Given the description of an element on the screen output the (x, y) to click on. 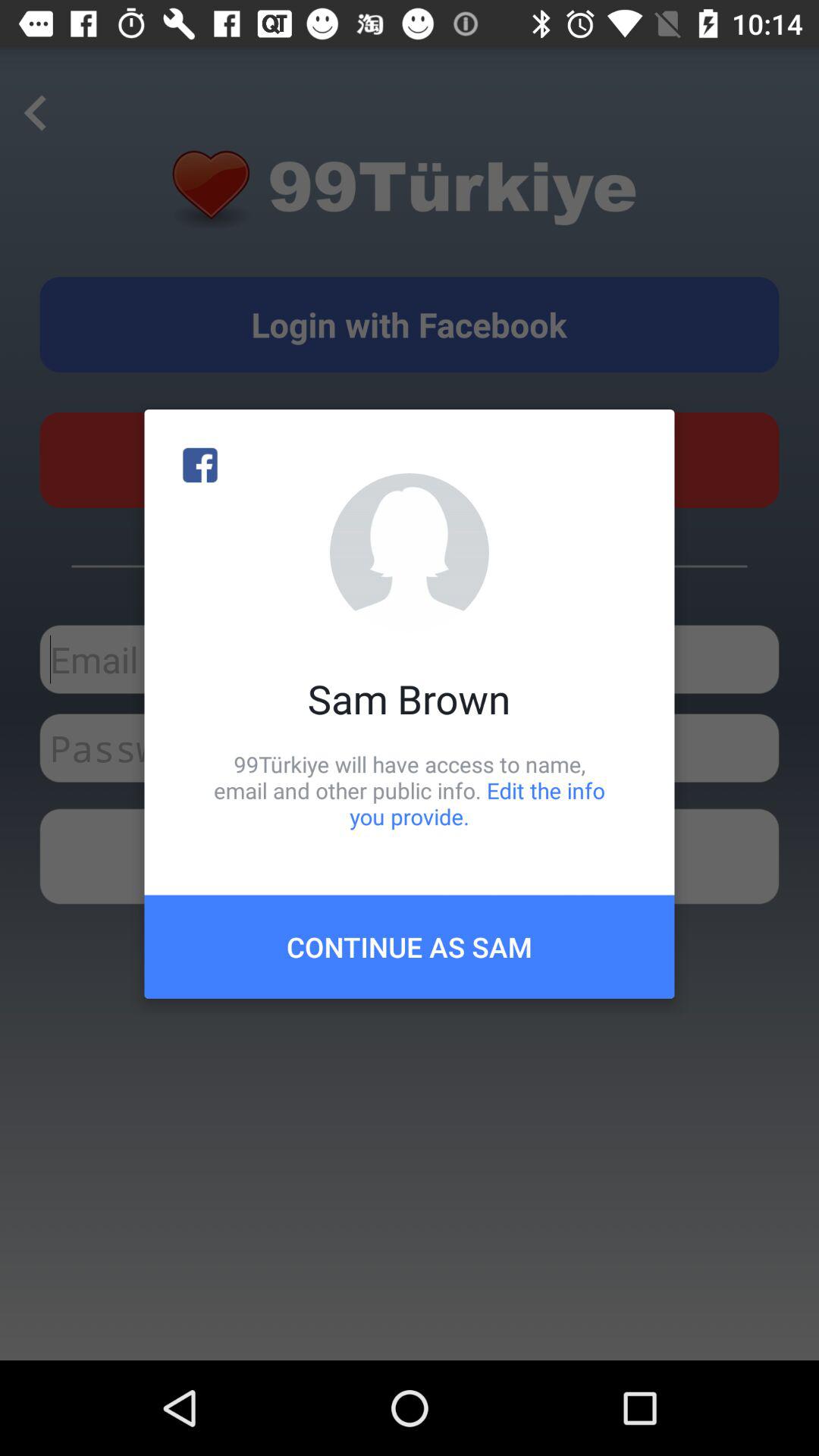
click continue as sam icon (409, 946)
